Given the description of an element on the screen output the (x, y) to click on. 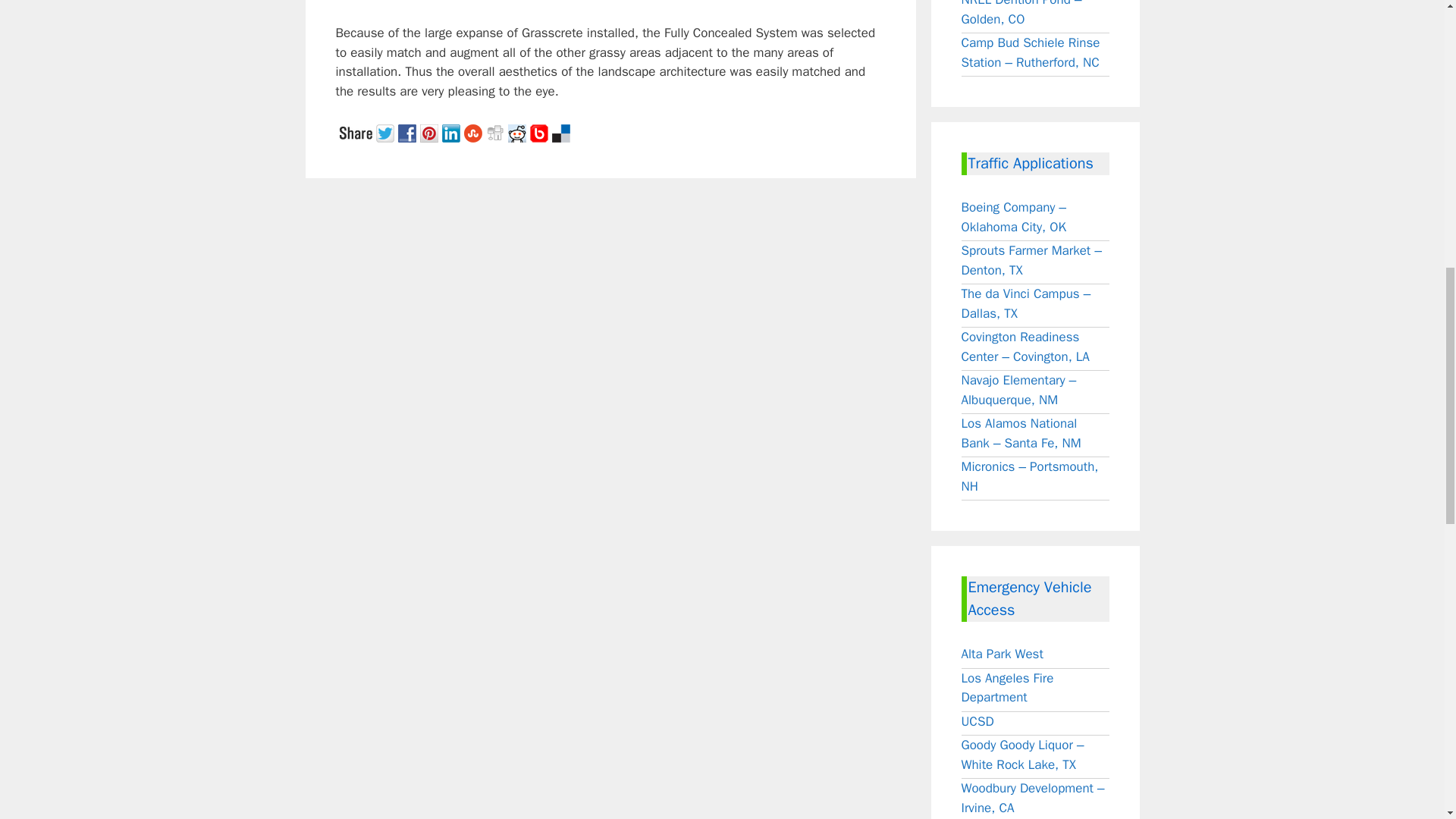
Twitter (386, 131)
